Given the description of an element on the screen output the (x, y) to click on. 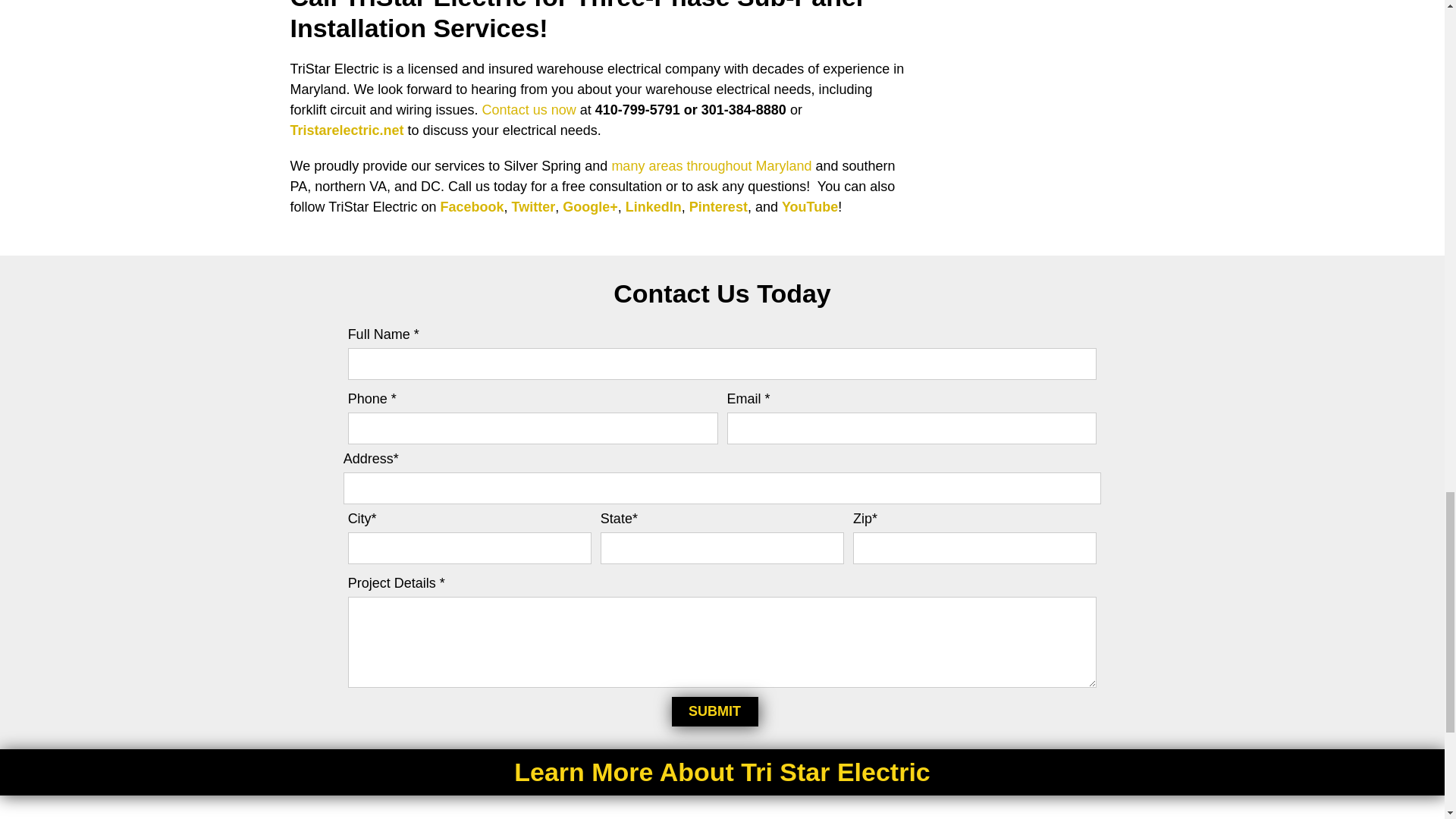
Submit (714, 711)
